Given the description of an element on the screen output the (x, y) to click on. 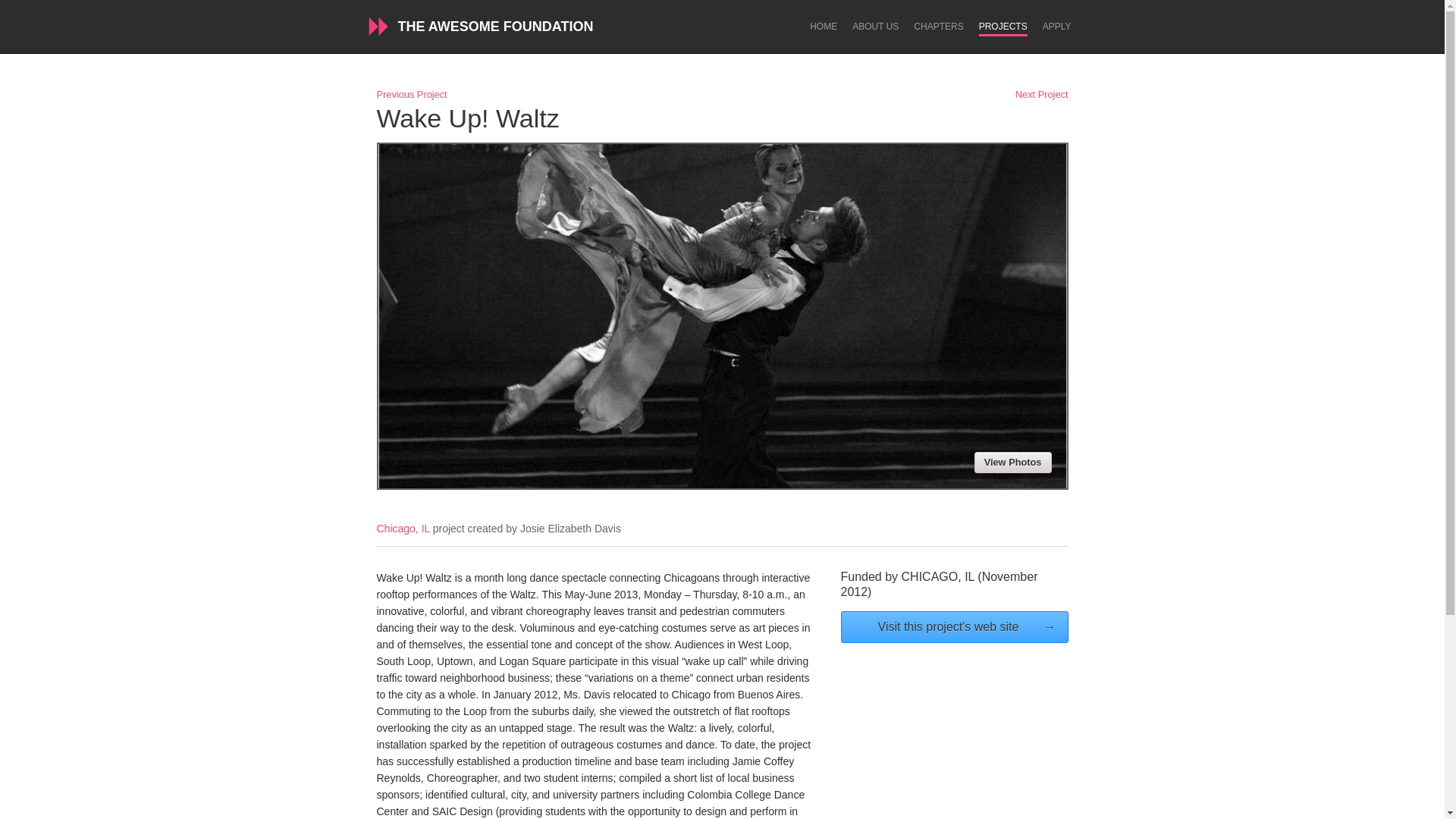
PROJECTS (1002, 28)
APPLY (1056, 27)
HOME (823, 27)
ABOUT US (874, 27)
CHAPTERS (938, 27)
